Given the description of an element on the screen output the (x, y) to click on. 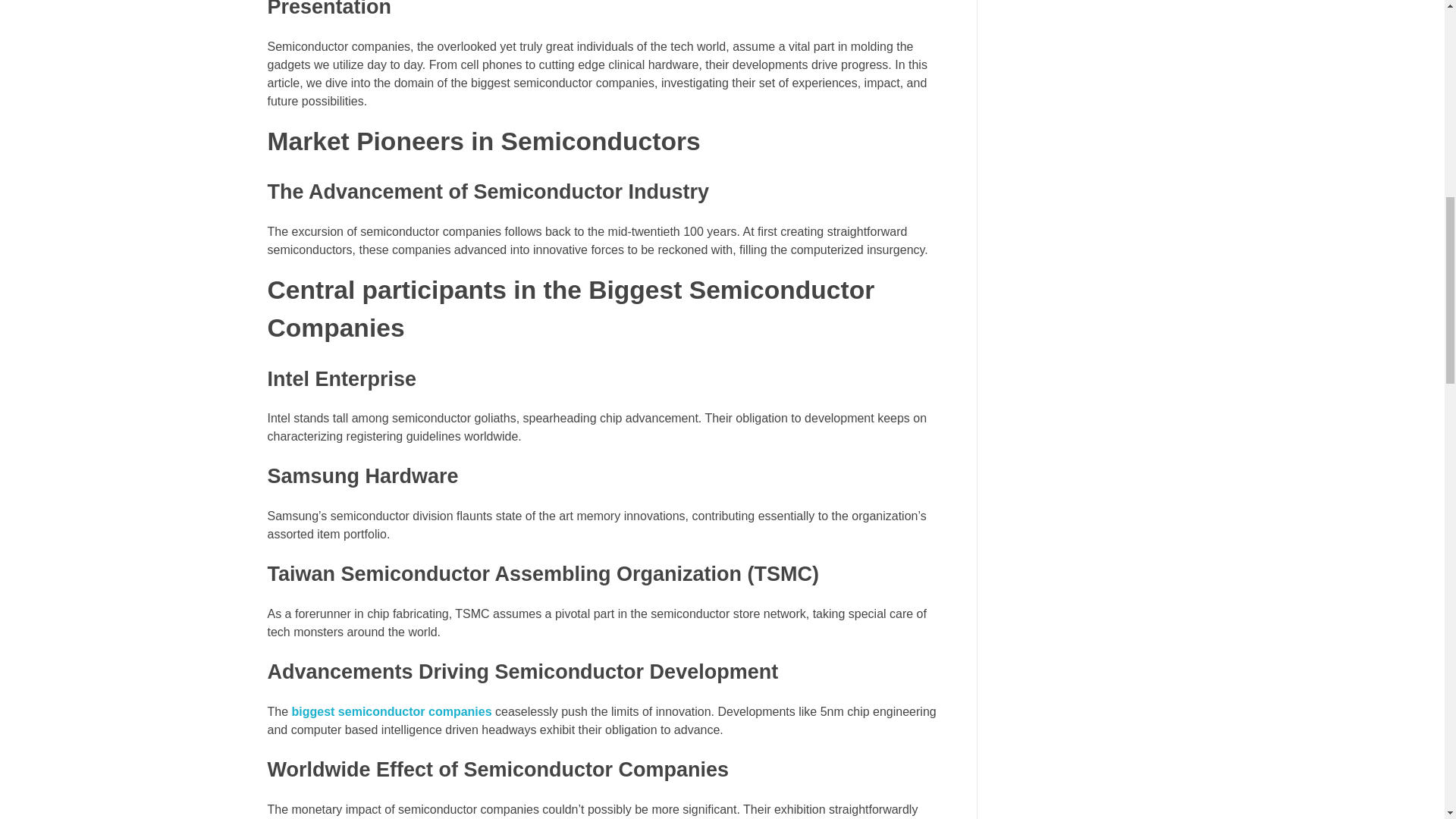
biggest semiconductor companies (392, 711)
